Given the description of an element on the screen output the (x, y) to click on. 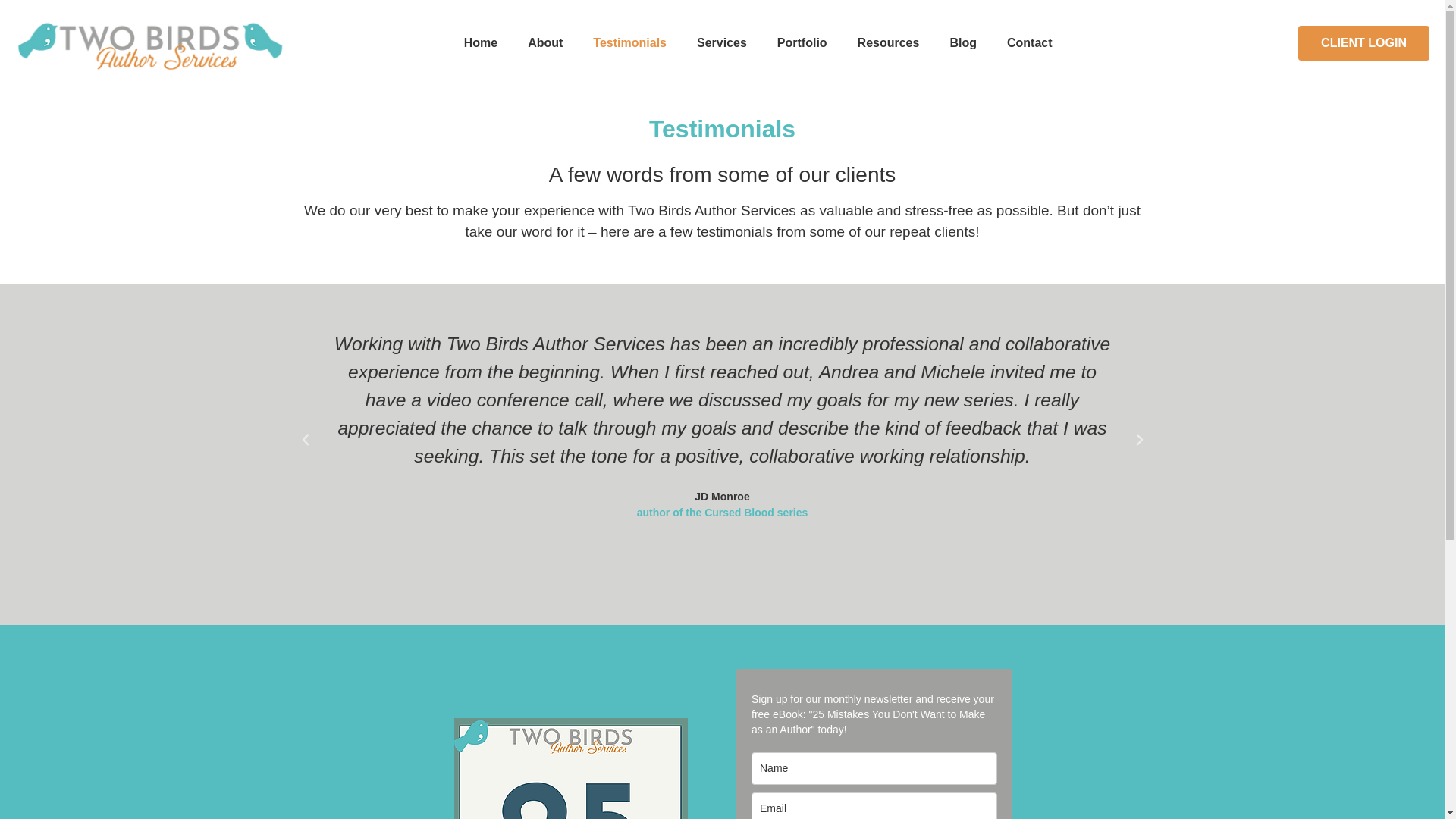
Testimonials (629, 42)
Portfolio (802, 42)
Resources (888, 42)
Home (480, 42)
Blog (962, 42)
Contact (1029, 42)
CLIENT LOGIN (1363, 42)
Services (721, 42)
Embedded Content (873, 740)
About (545, 42)
